Given the description of an element on the screen output the (x, y) to click on. 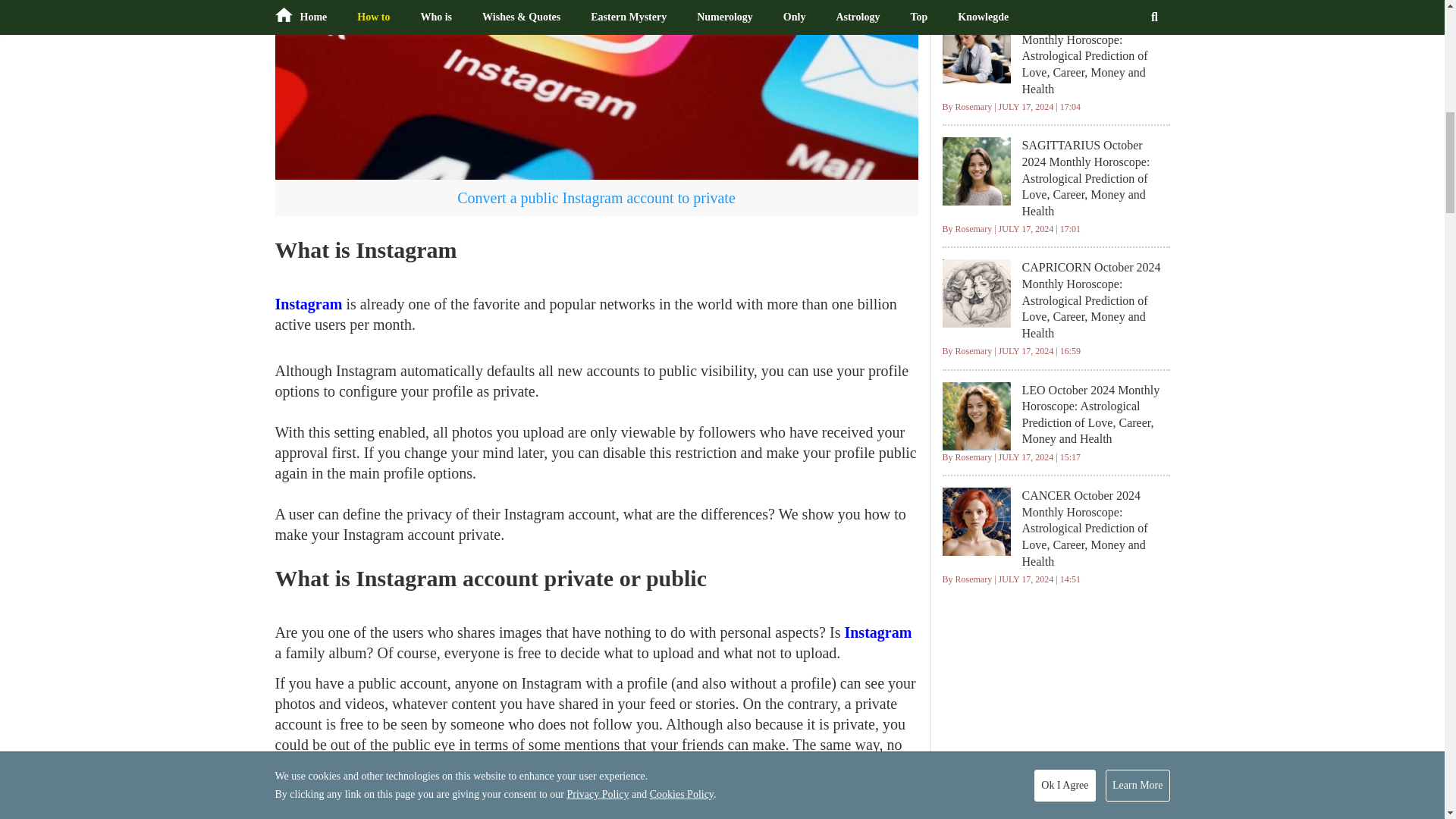
Instagram (308, 303)
Convert a public Instagram account to private (596, 89)
Instagram (877, 632)
